Given the description of an element on the screen output the (x, y) to click on. 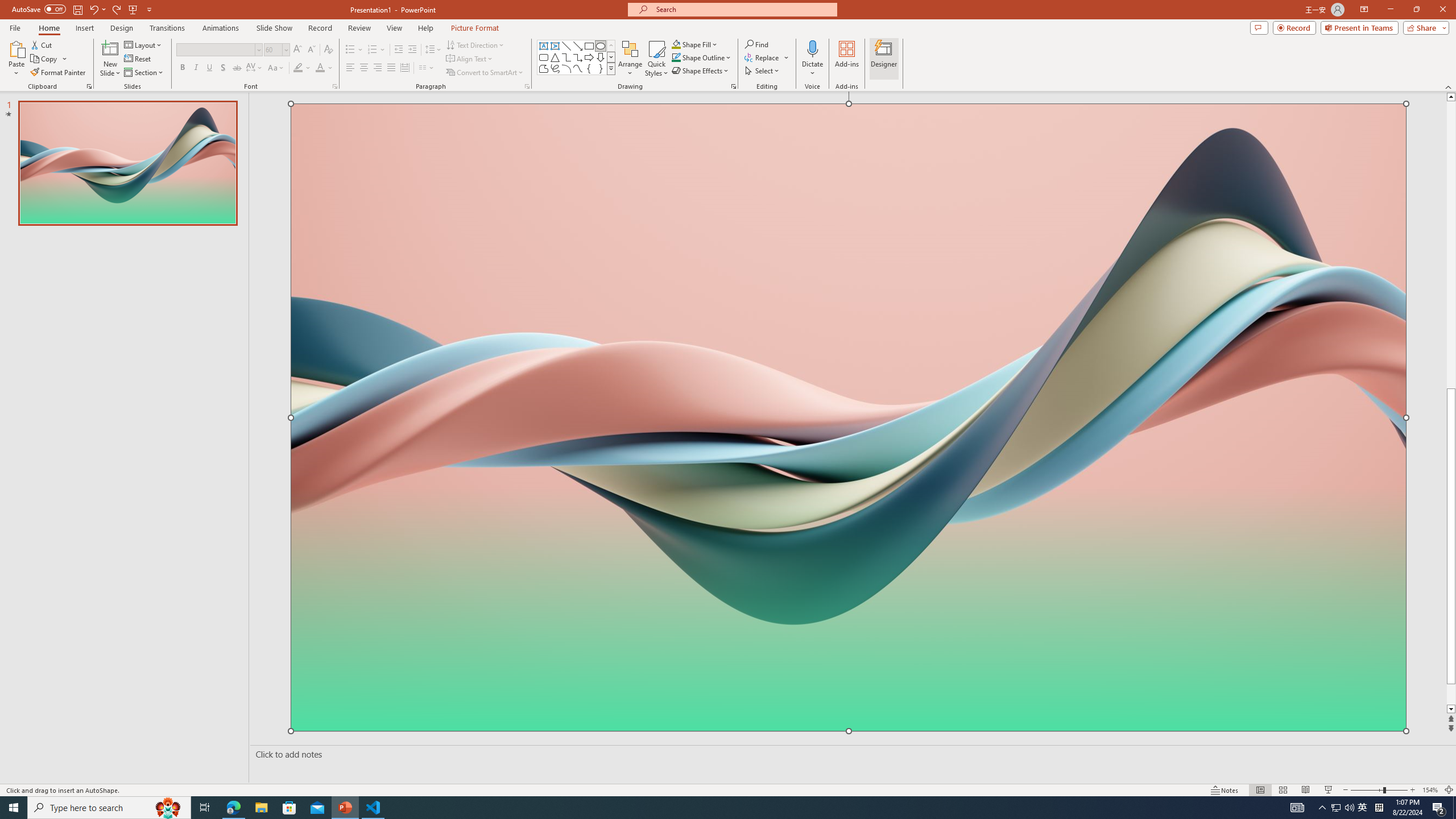
Picture Format (475, 28)
